Given the description of an element on the screen output the (x, y) to click on. 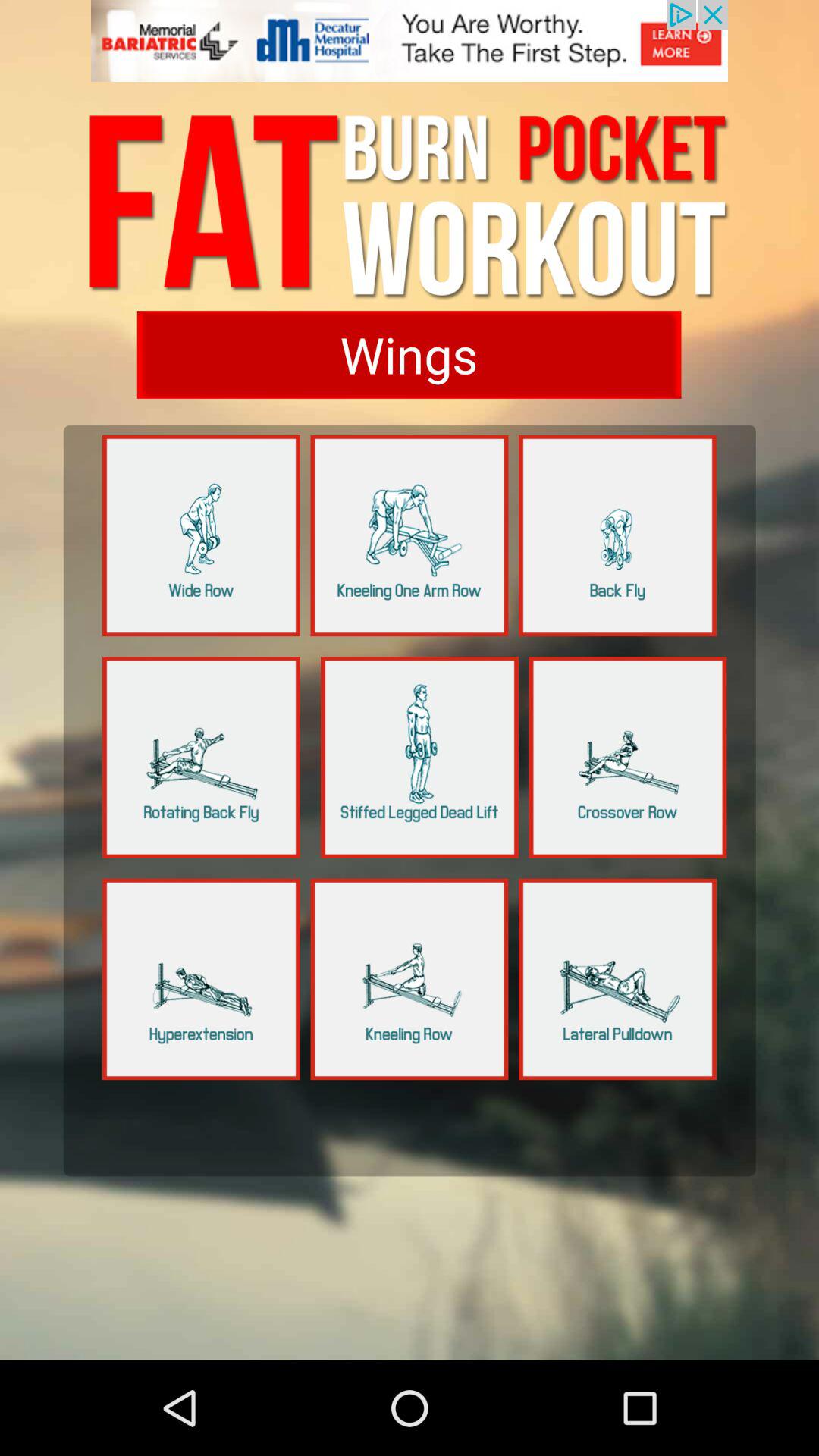
choose wings (409, 354)
